Given the description of an element on the screen output the (x, y) to click on. 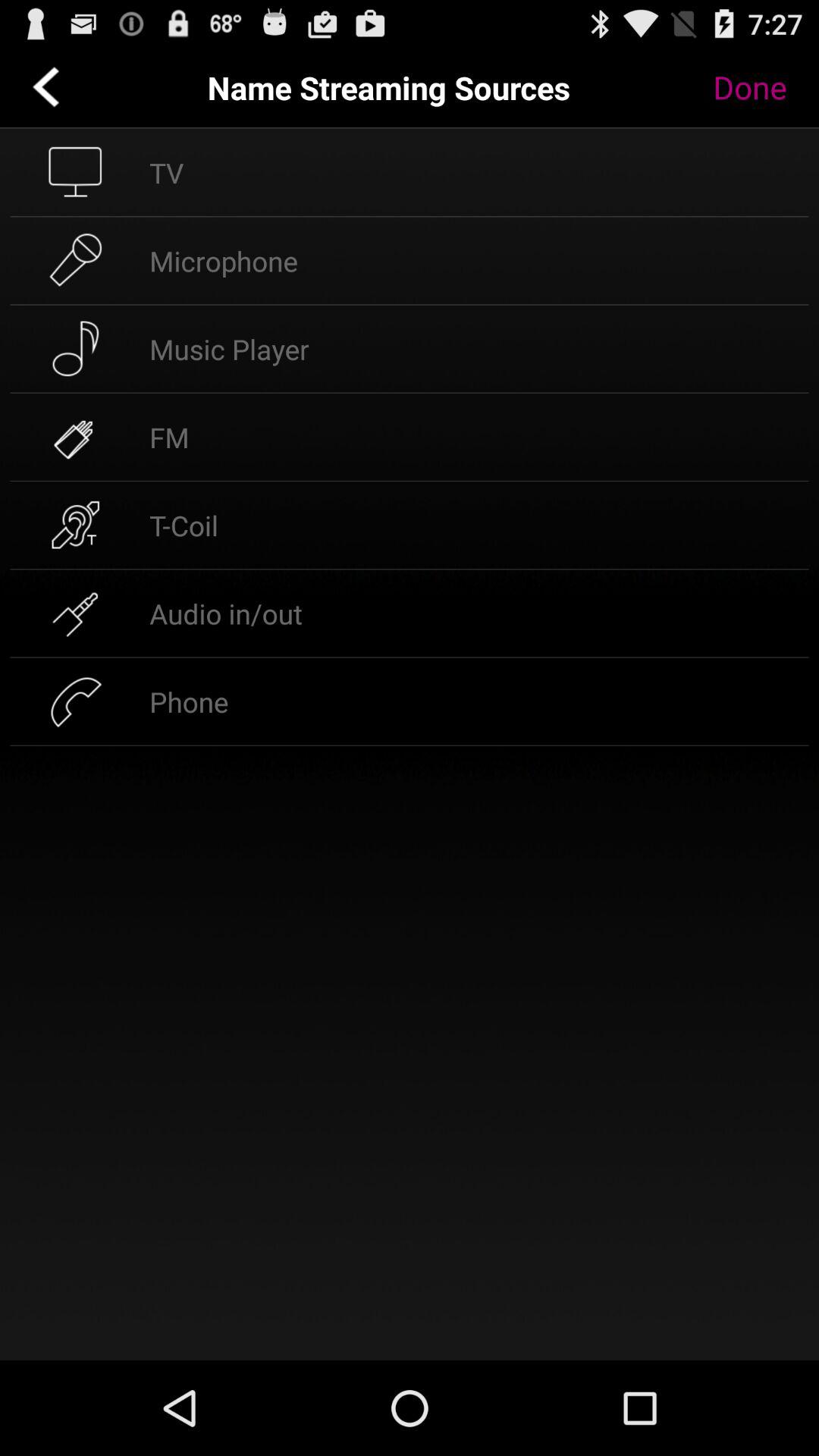
tap done button (760, 87)
